Given the description of an element on the screen output the (x, y) to click on. 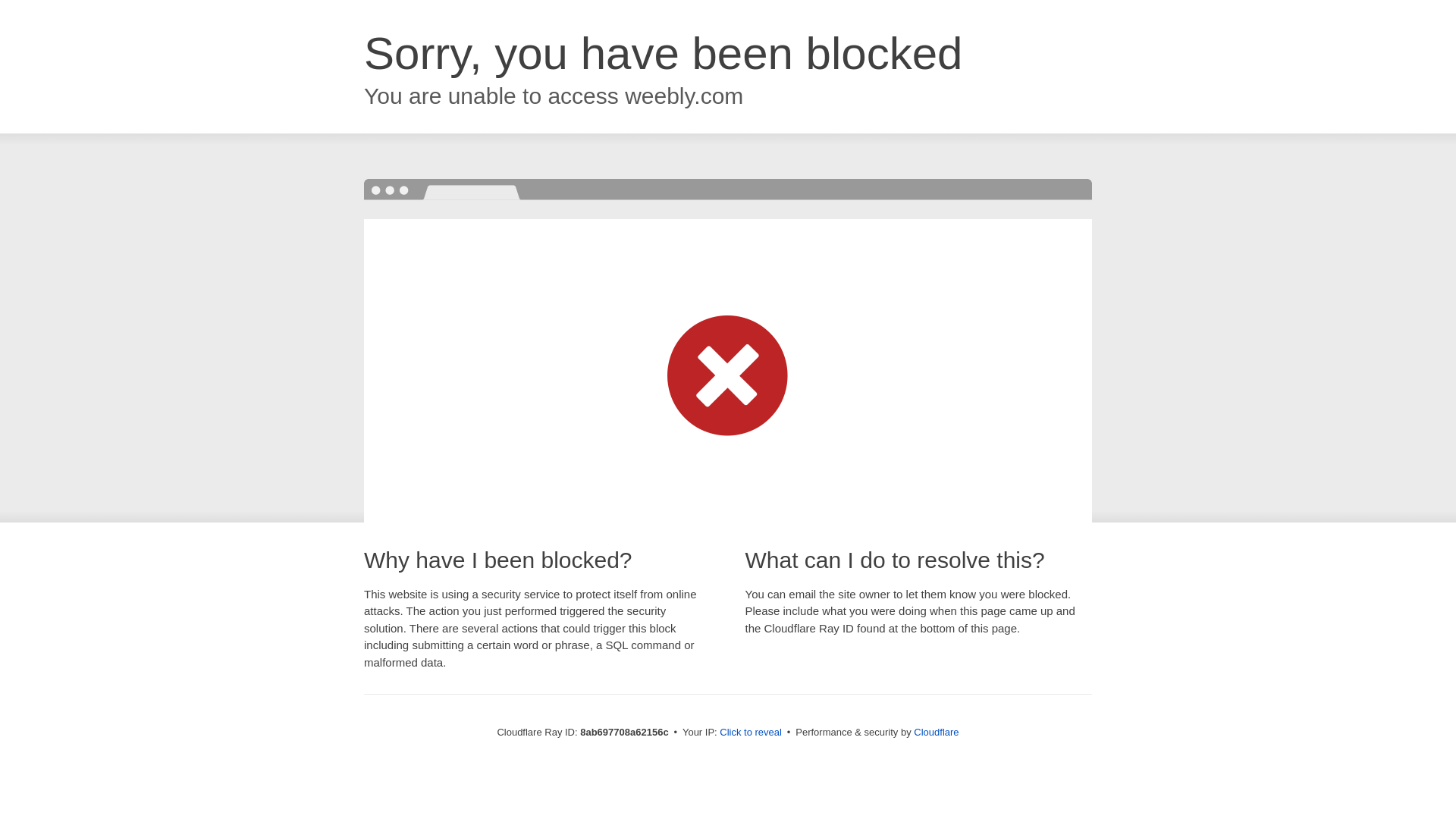
Cloudflare (936, 731)
Click to reveal (750, 732)
